Given the description of an element on the screen output the (x, y) to click on. 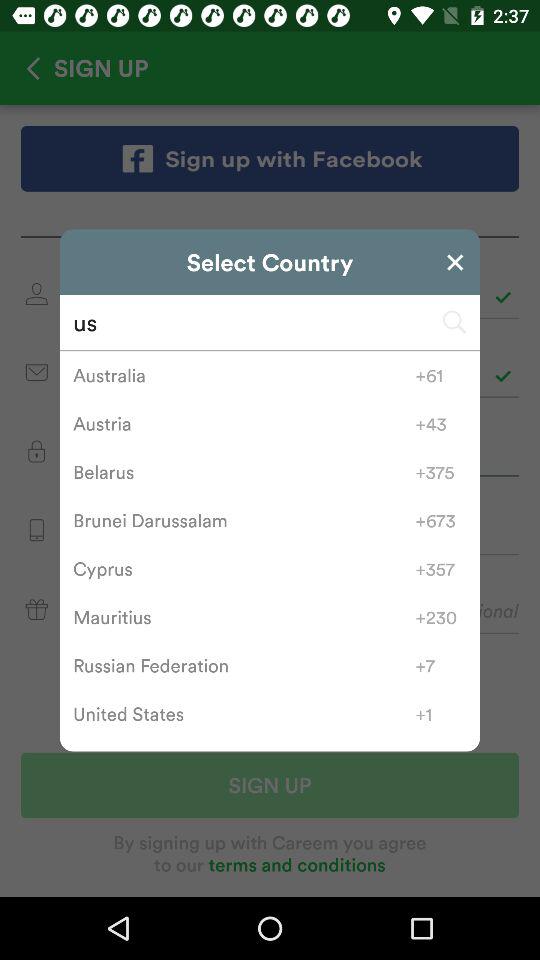
scroll until russian federation item (244, 665)
